Given the description of an element on the screen output the (x, y) to click on. 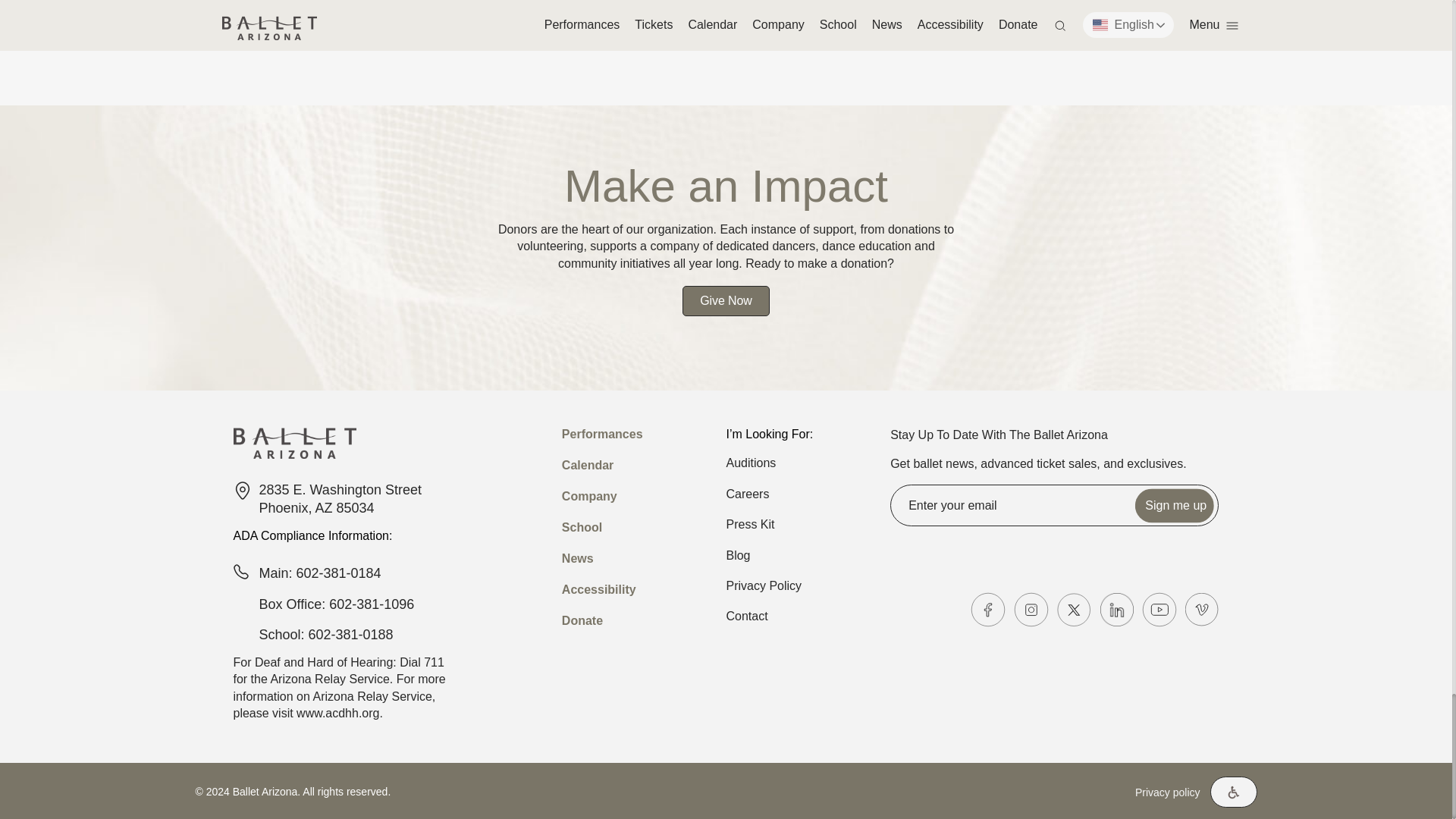
Sign me up (1174, 505)
